Given the description of an element on the screen output the (x, y) to click on. 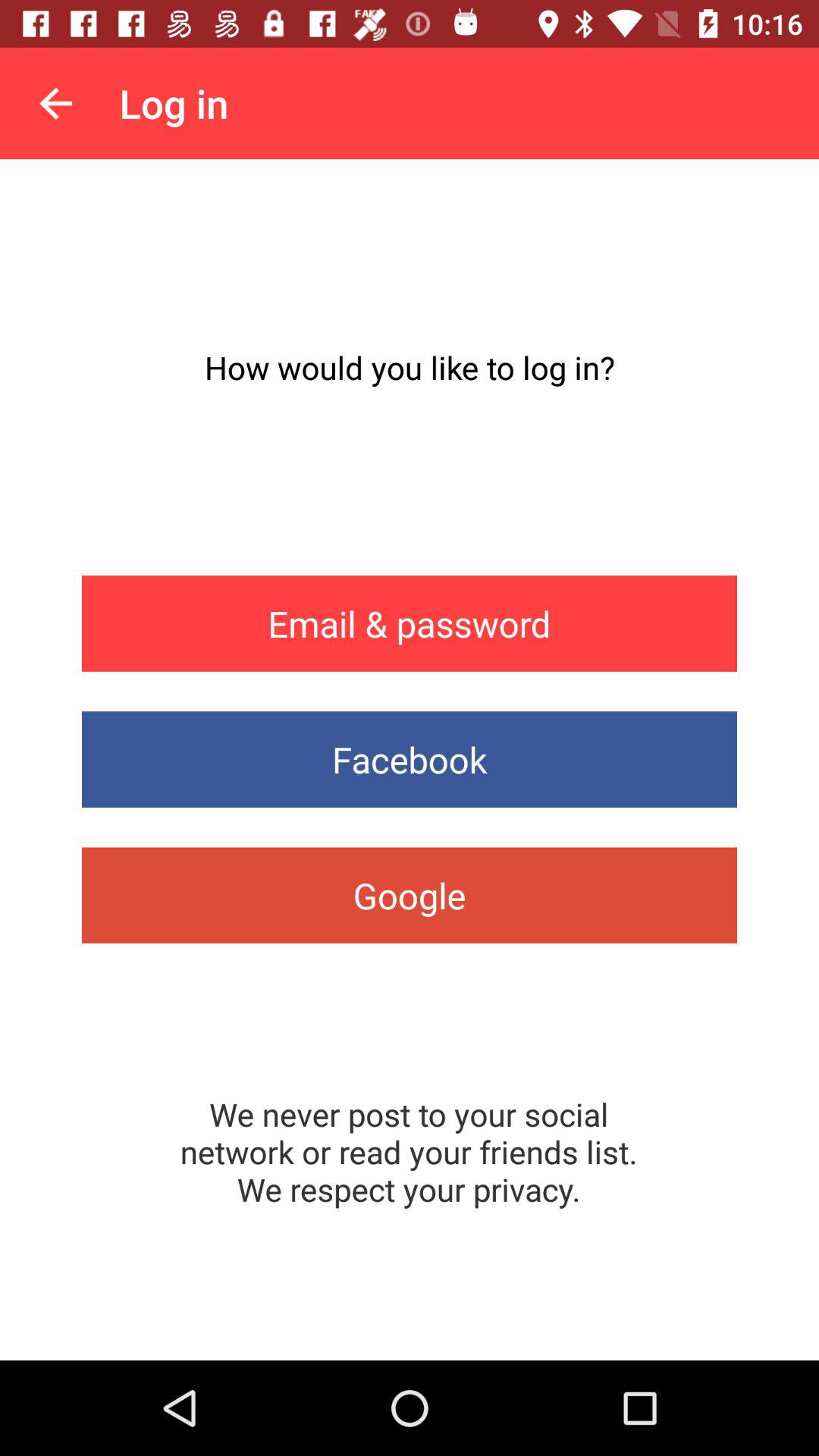
click the app next to log in (55, 103)
